Given the description of an element on the screen output the (x, y) to click on. 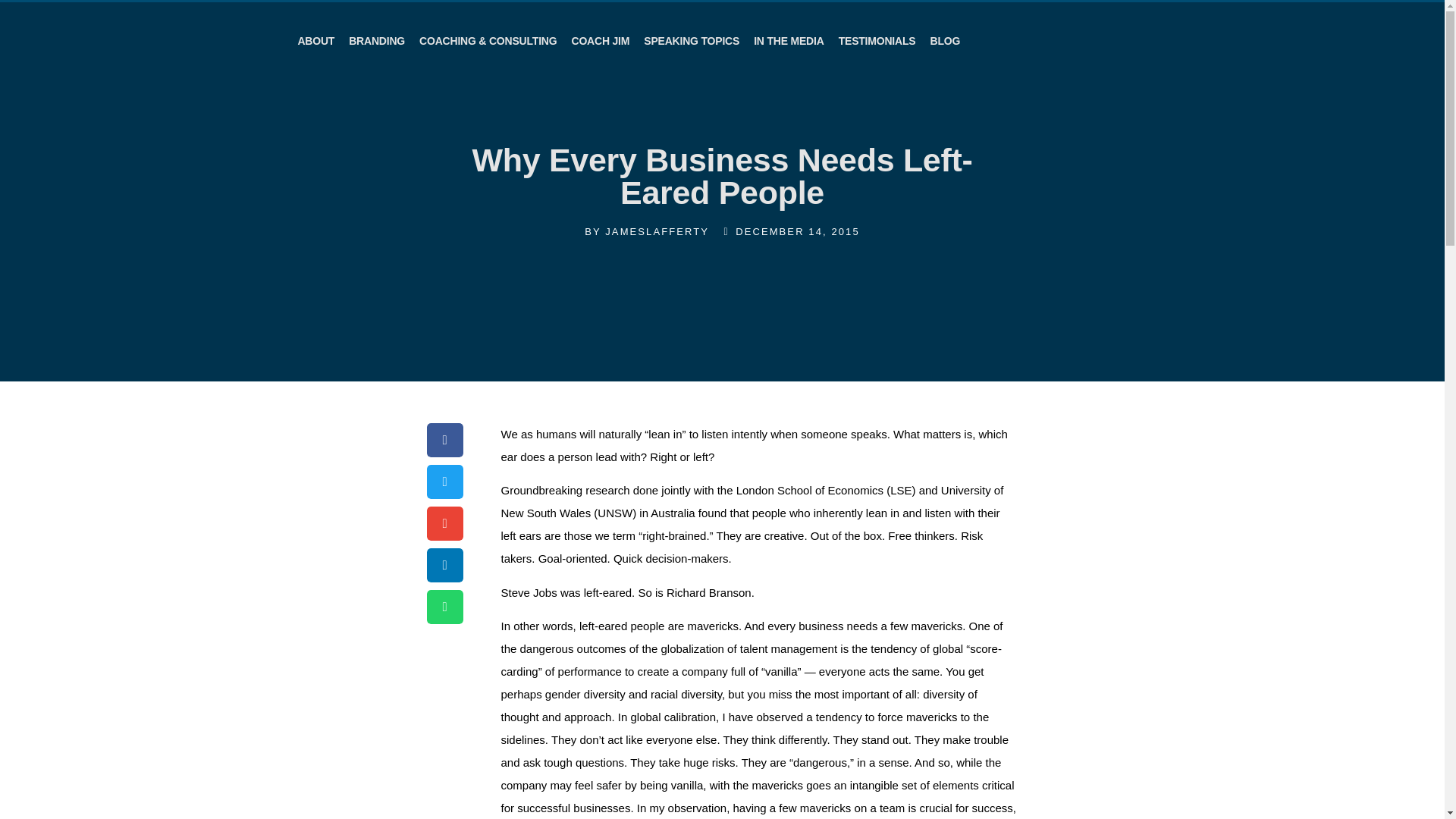
TESTIMONIALS (876, 40)
BLOG (944, 40)
ABOUT (315, 40)
BRANDING (376, 40)
IN THE MEDIA (789, 40)
SPEAKING TOPICS (691, 40)
COACH JIM (599, 40)
